Given the description of an element on the screen output the (x, y) to click on. 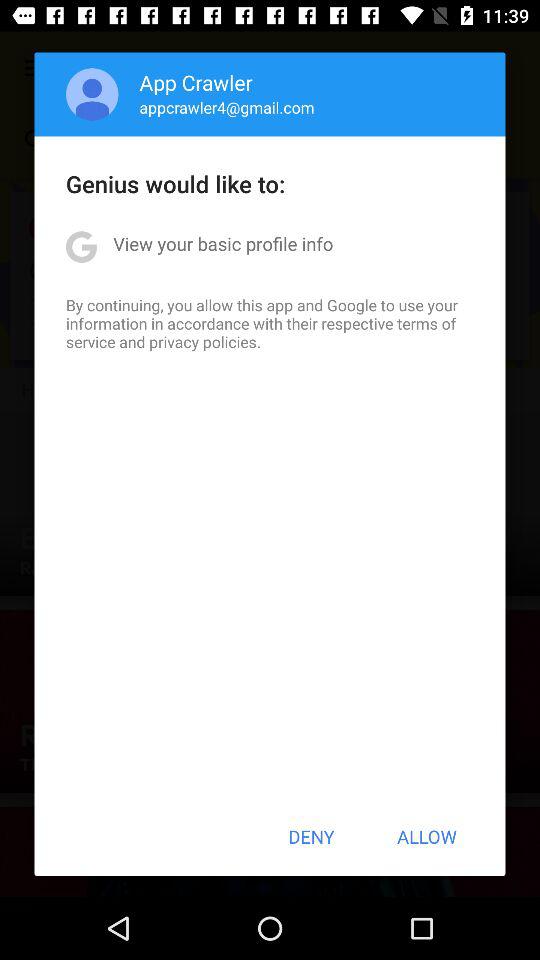
open view your basic app (223, 243)
